Given the description of an element on the screen output the (x, y) to click on. 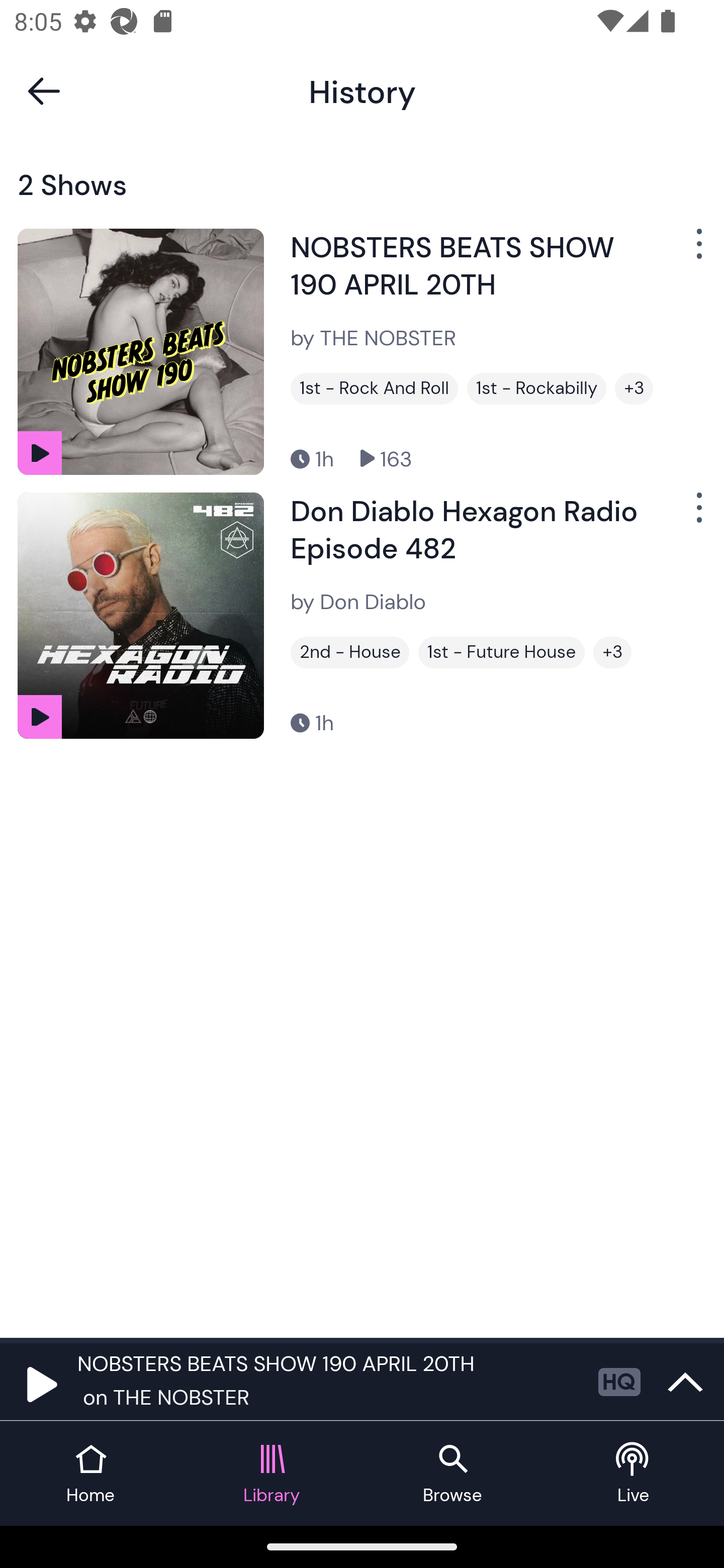
Show Options Menu Button (697, 251)
1st - Rock And Roll (374, 388)
1st - Rockabilly (536, 388)
Show Options Menu Button (697, 514)
2nd - House (349, 651)
1st - Future House (501, 651)
Home tab Home (90, 1473)
Library tab Library (271, 1473)
Browse tab Browse (452, 1473)
Live tab Live (633, 1473)
